Given the description of an element on the screen output the (x, y) to click on. 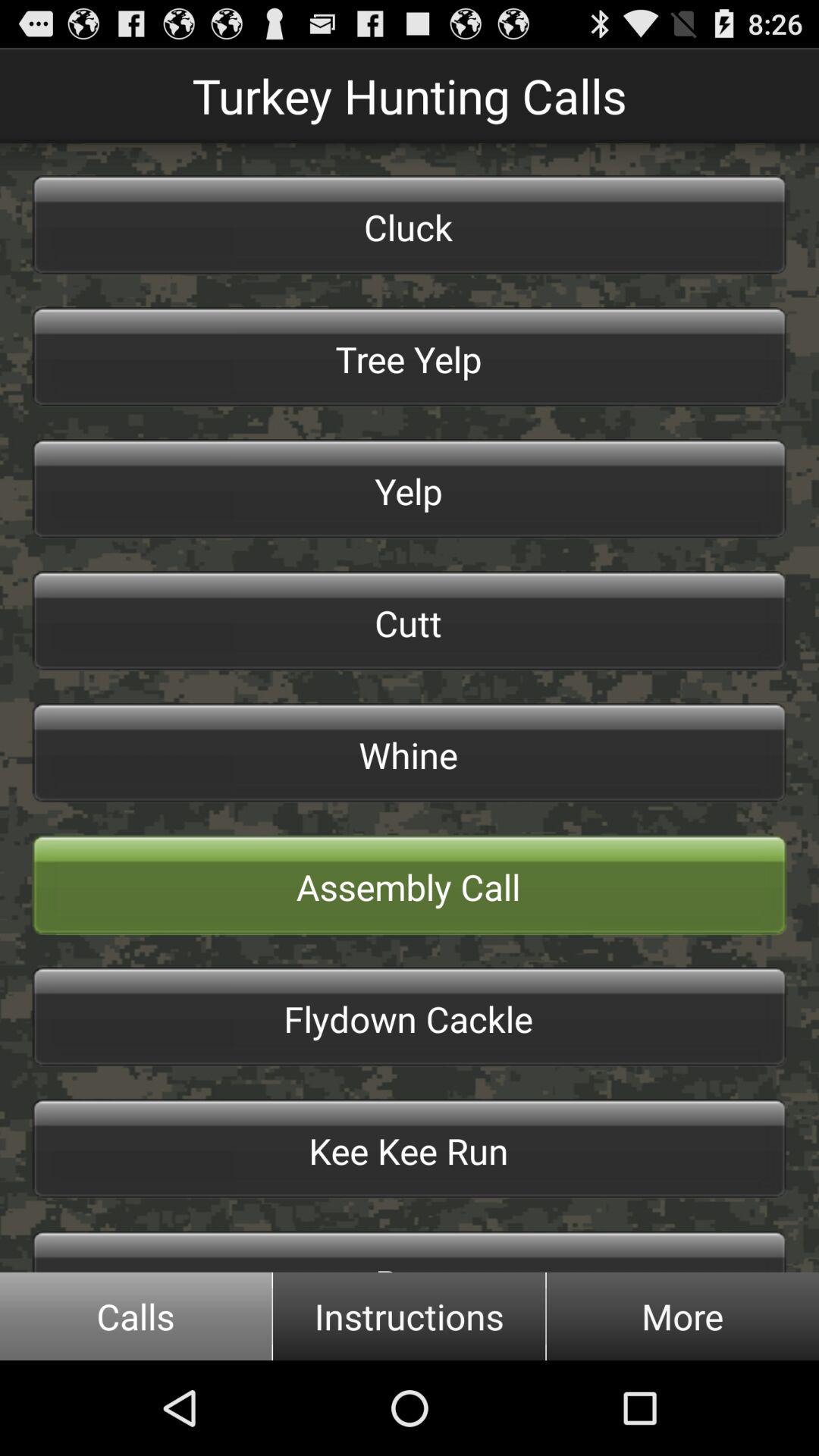
flip until purr button (409, 1251)
